Given the description of an element on the screen output the (x, y) to click on. 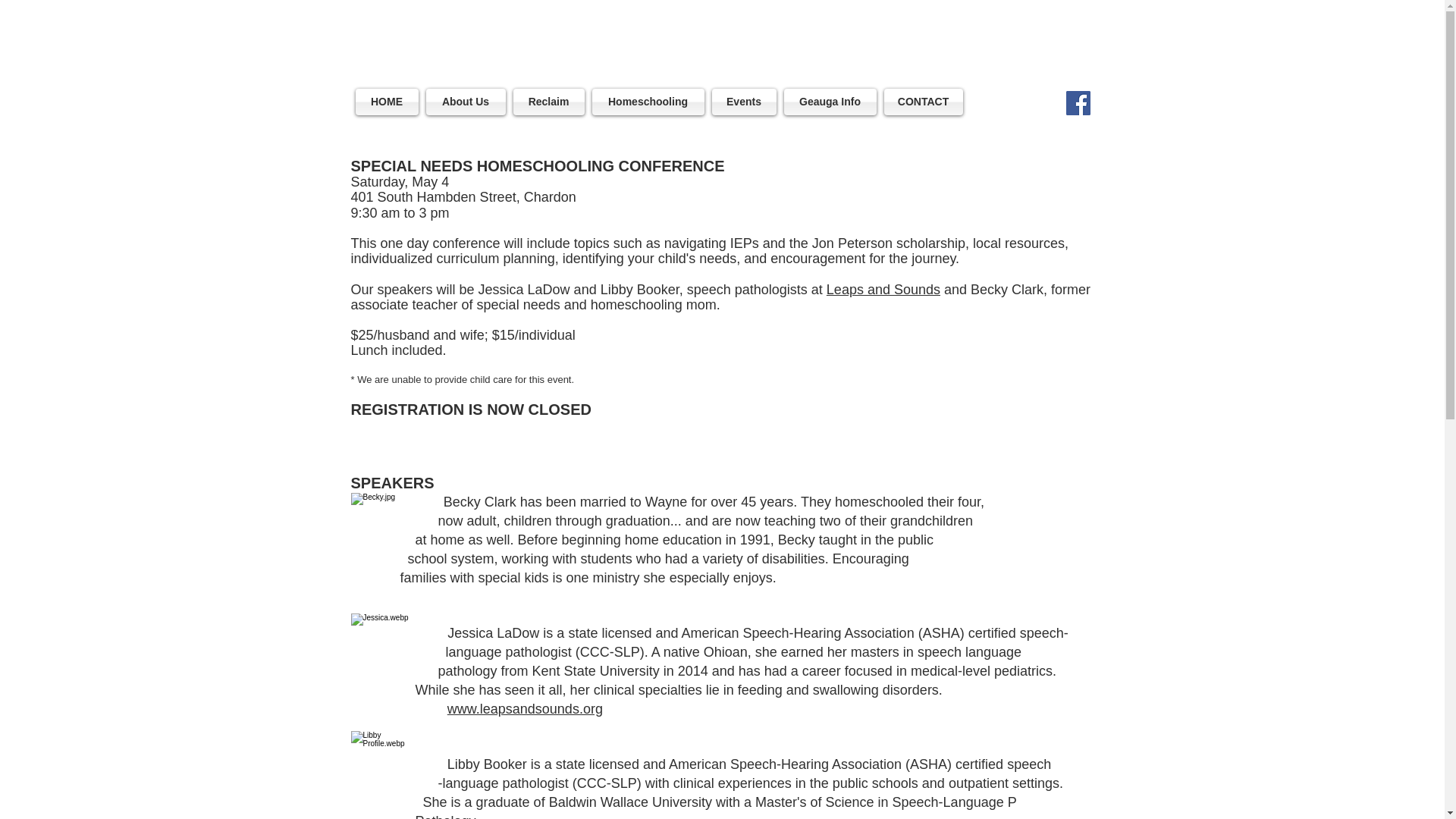
CONTACT (920, 101)
Homeschooling (647, 101)
About Us (465, 101)
Leaps and Sounds (883, 289)
www.leapsandsounds.org (524, 708)
HOME (388, 101)
Geauga Info (828, 101)
Events (743, 101)
Reclaim (548, 101)
